Given the description of an element on the screen output the (x, y) to click on. 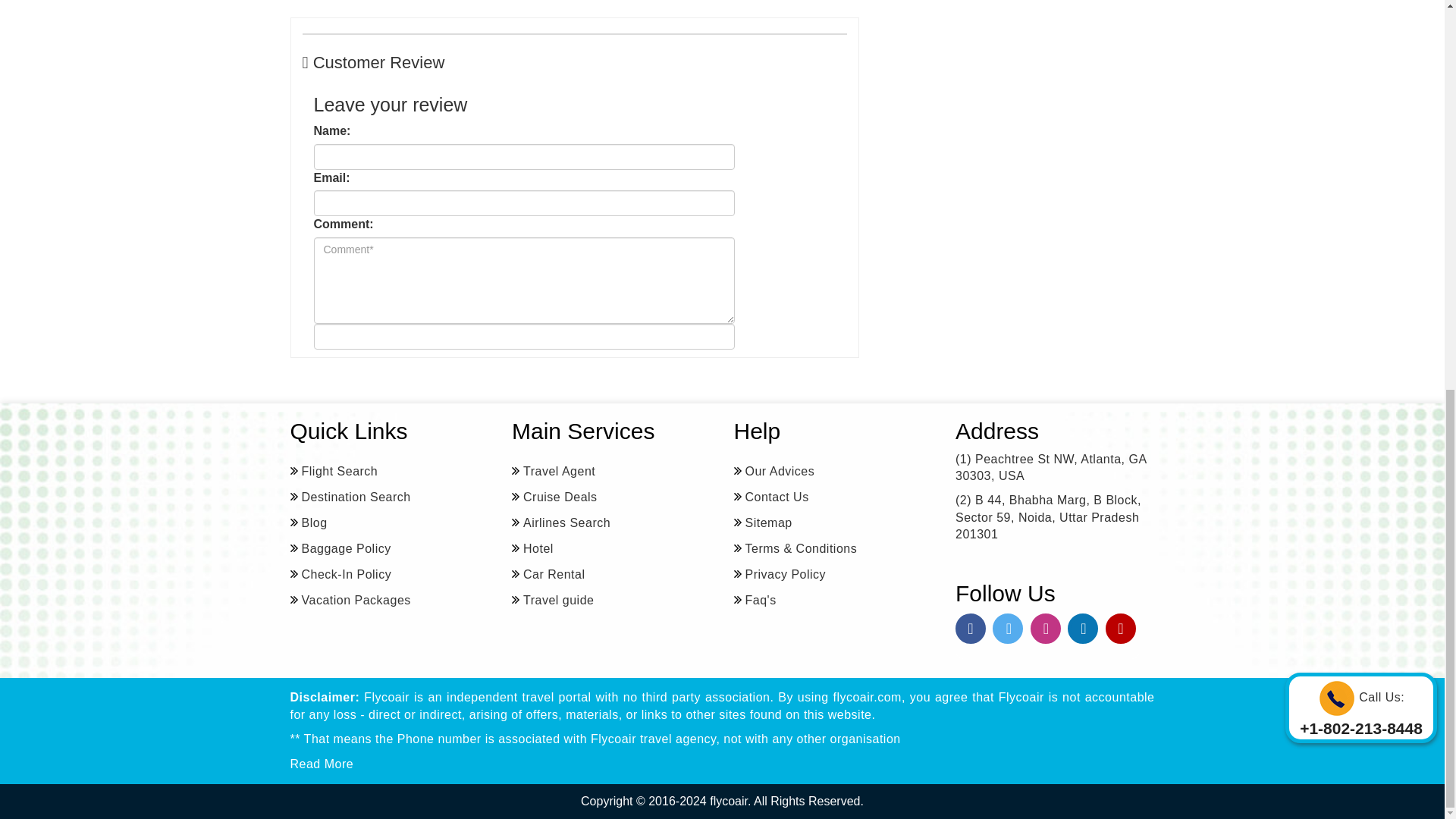
Travel Agent (553, 471)
Cruise Deals (554, 497)
Hotel (532, 548)
Flight Search (333, 471)
Airlines Search (561, 523)
Vacation Packages (349, 600)
Blog (307, 523)
Car Rental (548, 574)
Destination Search (349, 497)
Check-In Policy (340, 574)
